Given the description of an element on the screen output the (x, y) to click on. 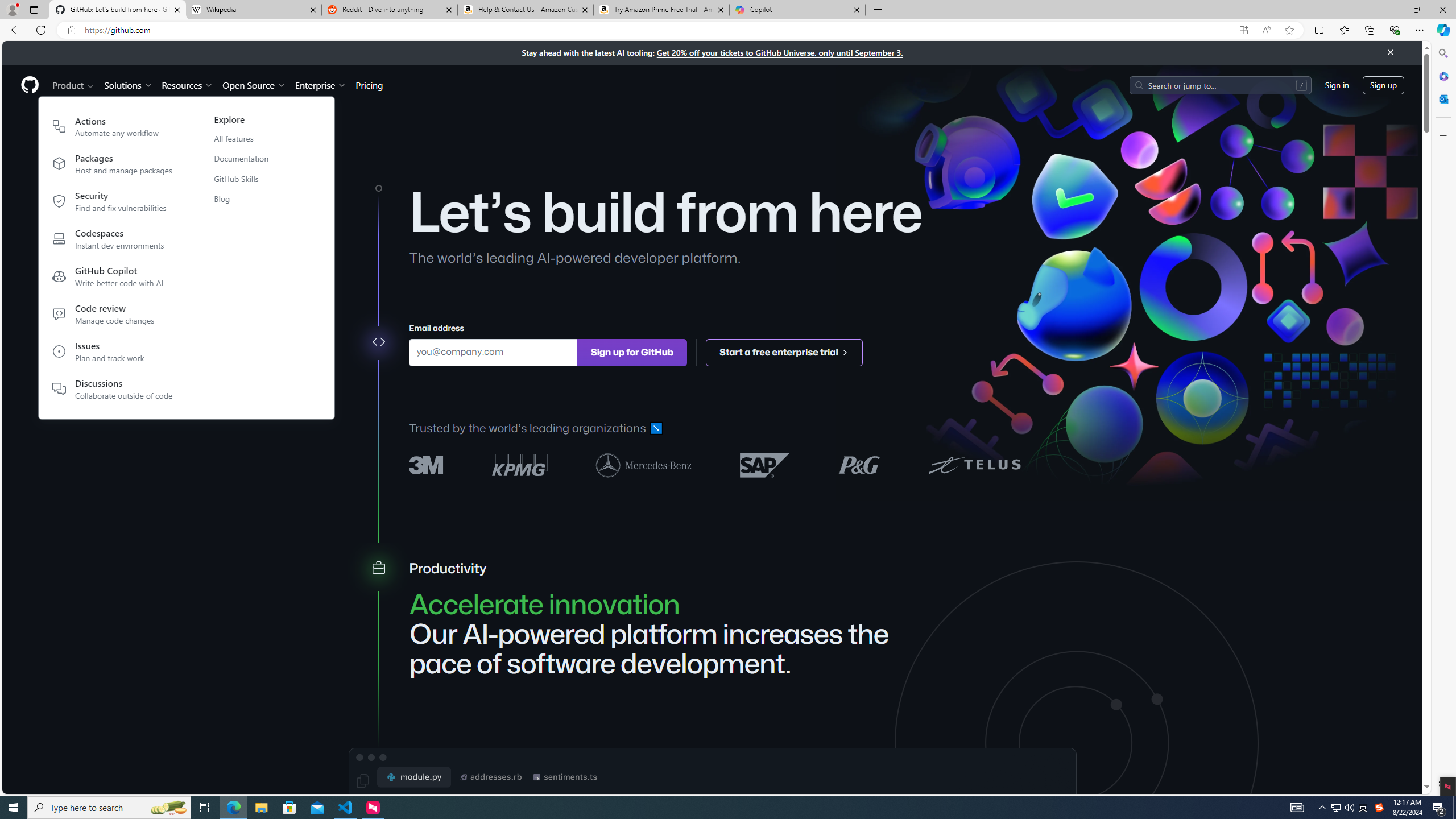
3M logo (426, 465)
All features (248, 138)
Mercedes-Benz logo (643, 464)
Code reviewManage code changes (112, 316)
CodespacesInstant dev environments (112, 241)
Help & Contact Us - Amazon Customer Service (525, 9)
Copilot (797, 9)
Documentation (248, 158)
Packages Host and manage packages (112, 166)
Discussions Collaborate outside of code (112, 389)
Start a free enterprise trial  (784, 352)
